Given the description of an element on the screen output the (x, y) to click on. 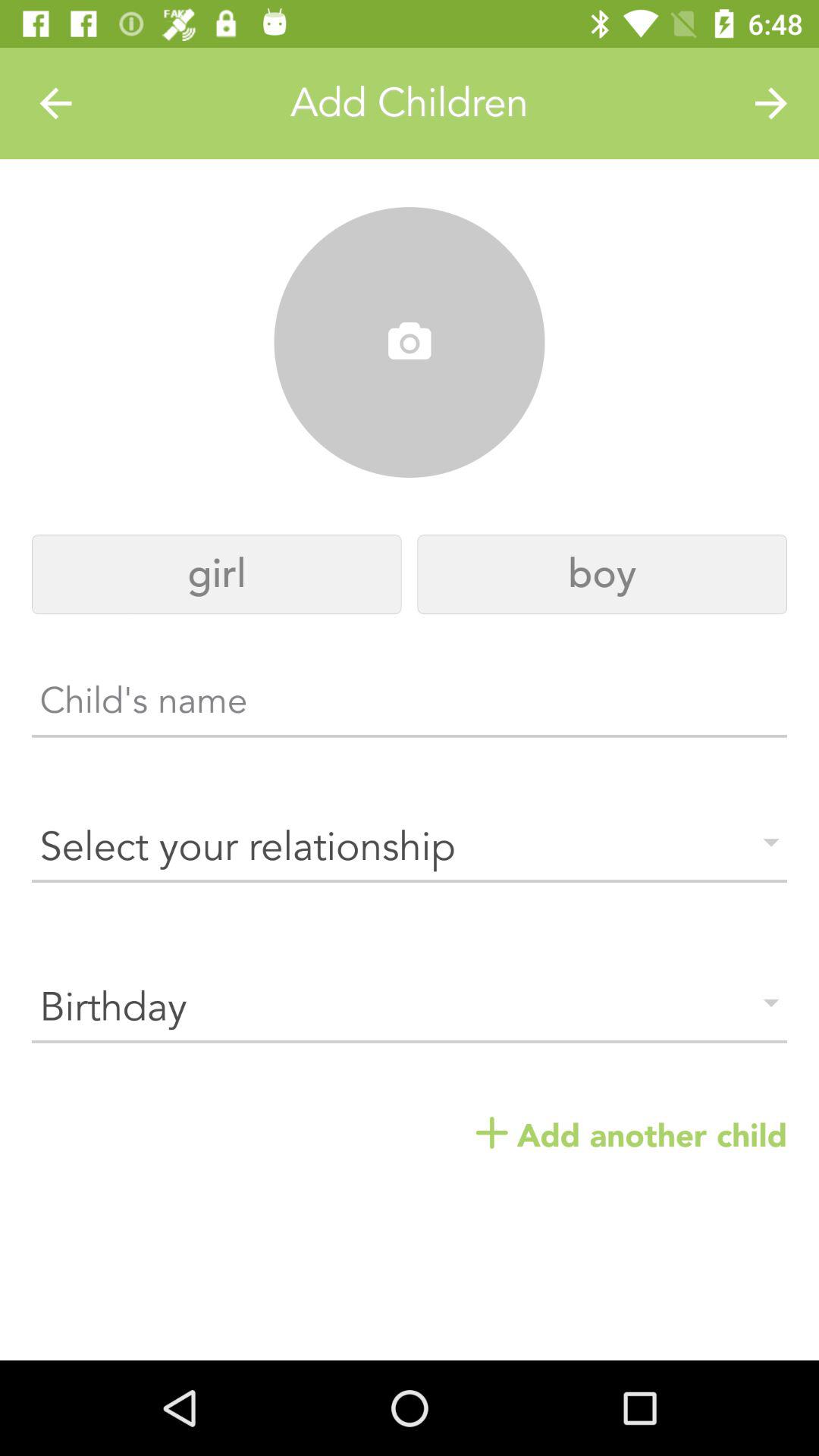
press the icon above the girl icon (409, 342)
